Given the description of an element on the screen output the (x, y) to click on. 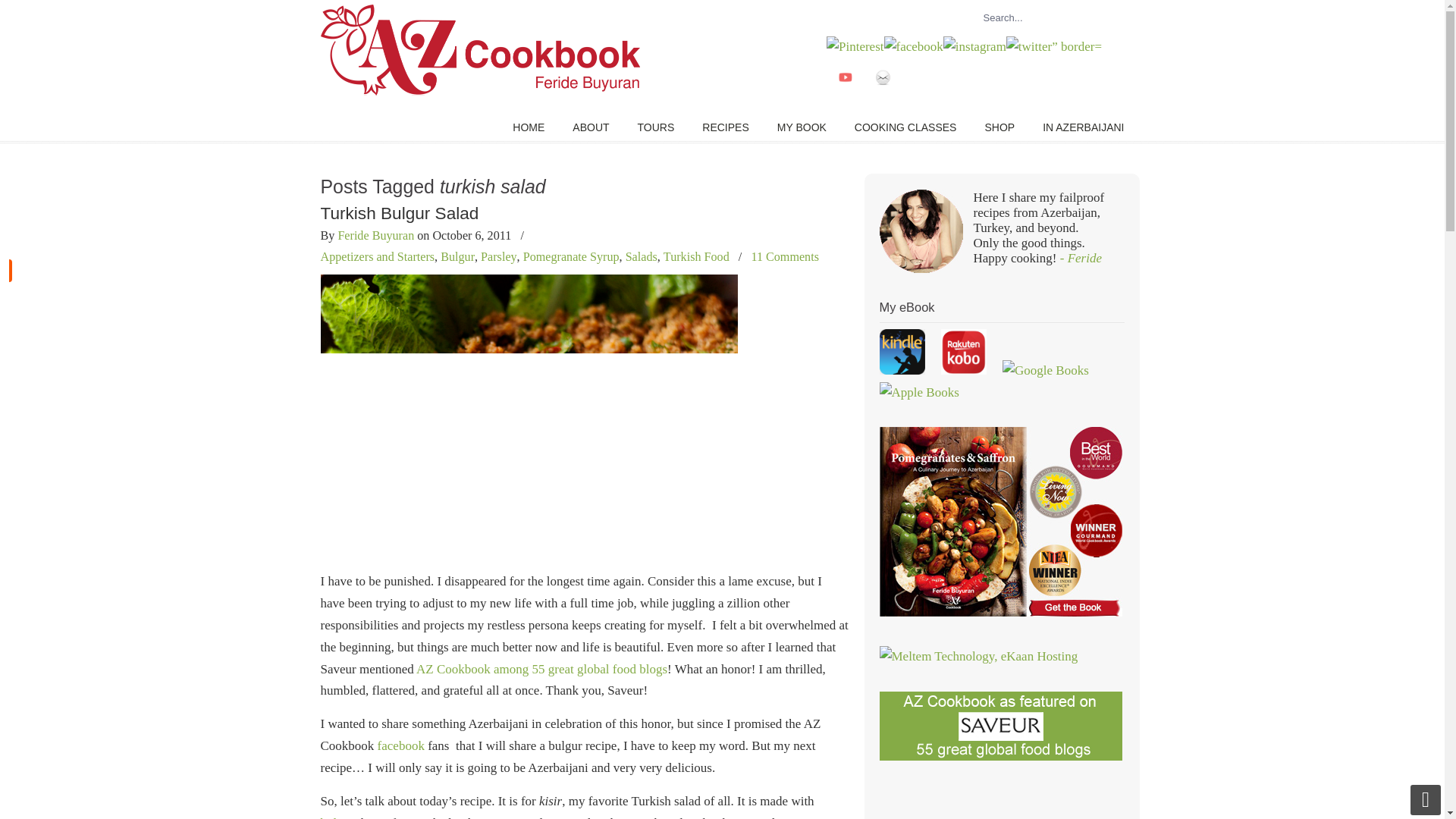
AZ Cookbook (479, 49)
Contact Me (883, 92)
facebook (401, 745)
search (1108, 17)
- Feride (1080, 257)
Bulgur (457, 256)
11 Comments (784, 256)
AZ Cookbook (479, 49)
RECIPES (724, 127)
SHOP (999, 127)
MY BOOK (801, 127)
Pinterest (855, 46)
Pomegranate Syrup (571, 256)
search (1108, 17)
Turkish Food (696, 256)
